Given the description of an element on the screen output the (x, y) to click on. 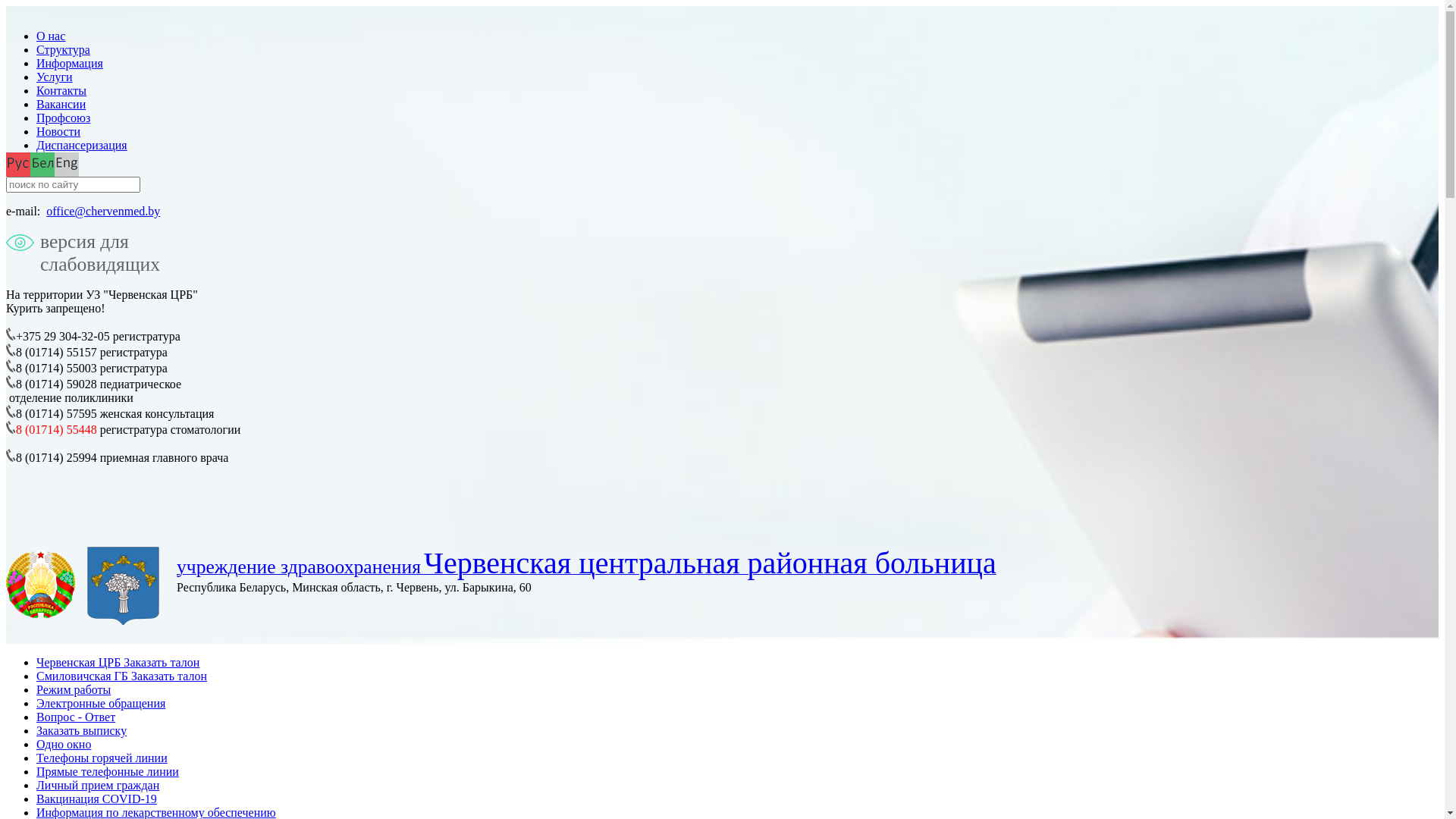
Belarusian Element type: hover (42, 162)
English Element type: hover (66, 162)
Russian Element type: hover (18, 162)
office@chervenmed.by Element type: text (103, 210)
